Given the description of an element on the screen output the (x, y) to click on. 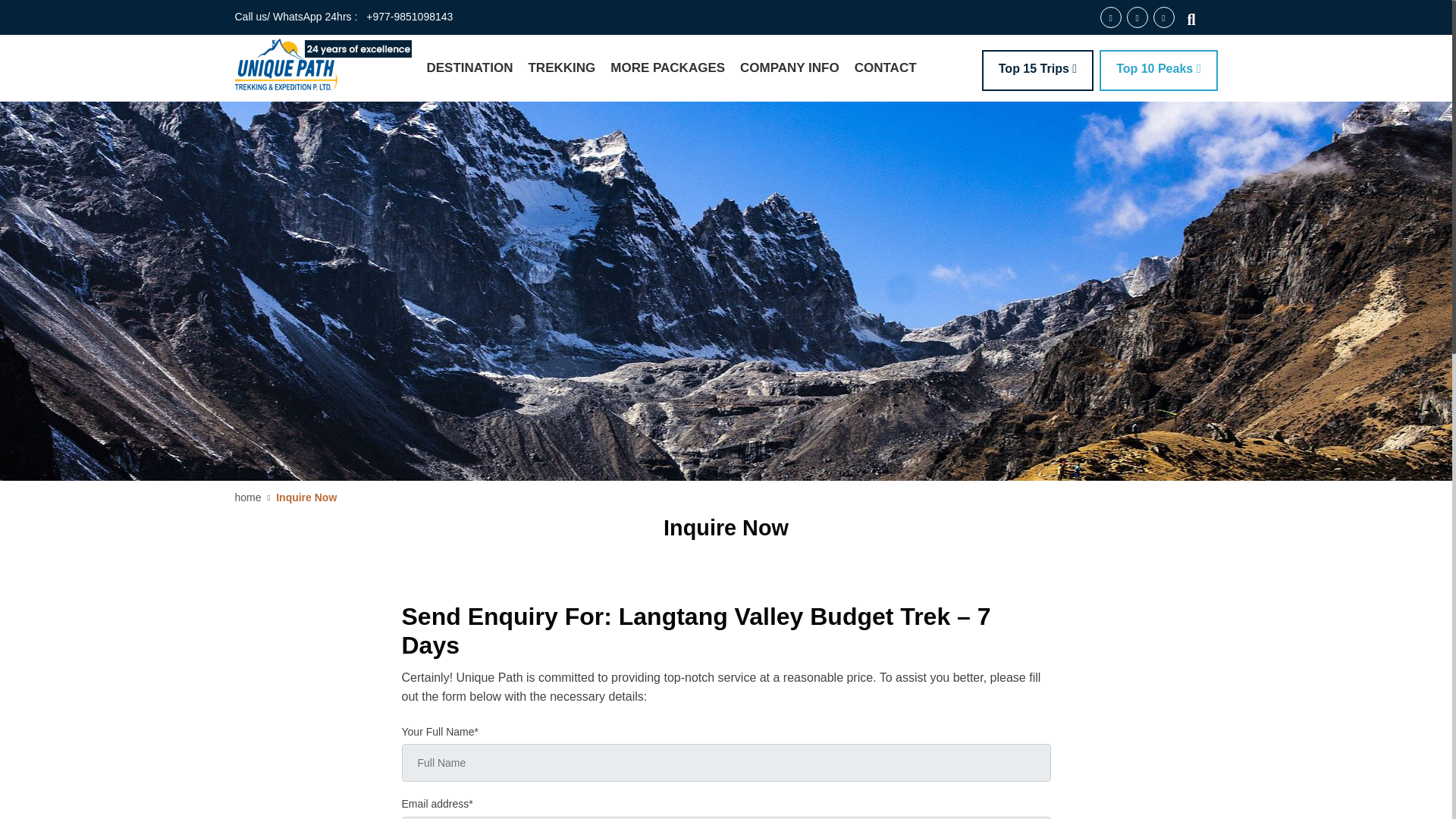
DESTINATION (469, 68)
TREKKING (560, 68)
